Given the description of an element on the screen output the (x, y) to click on. 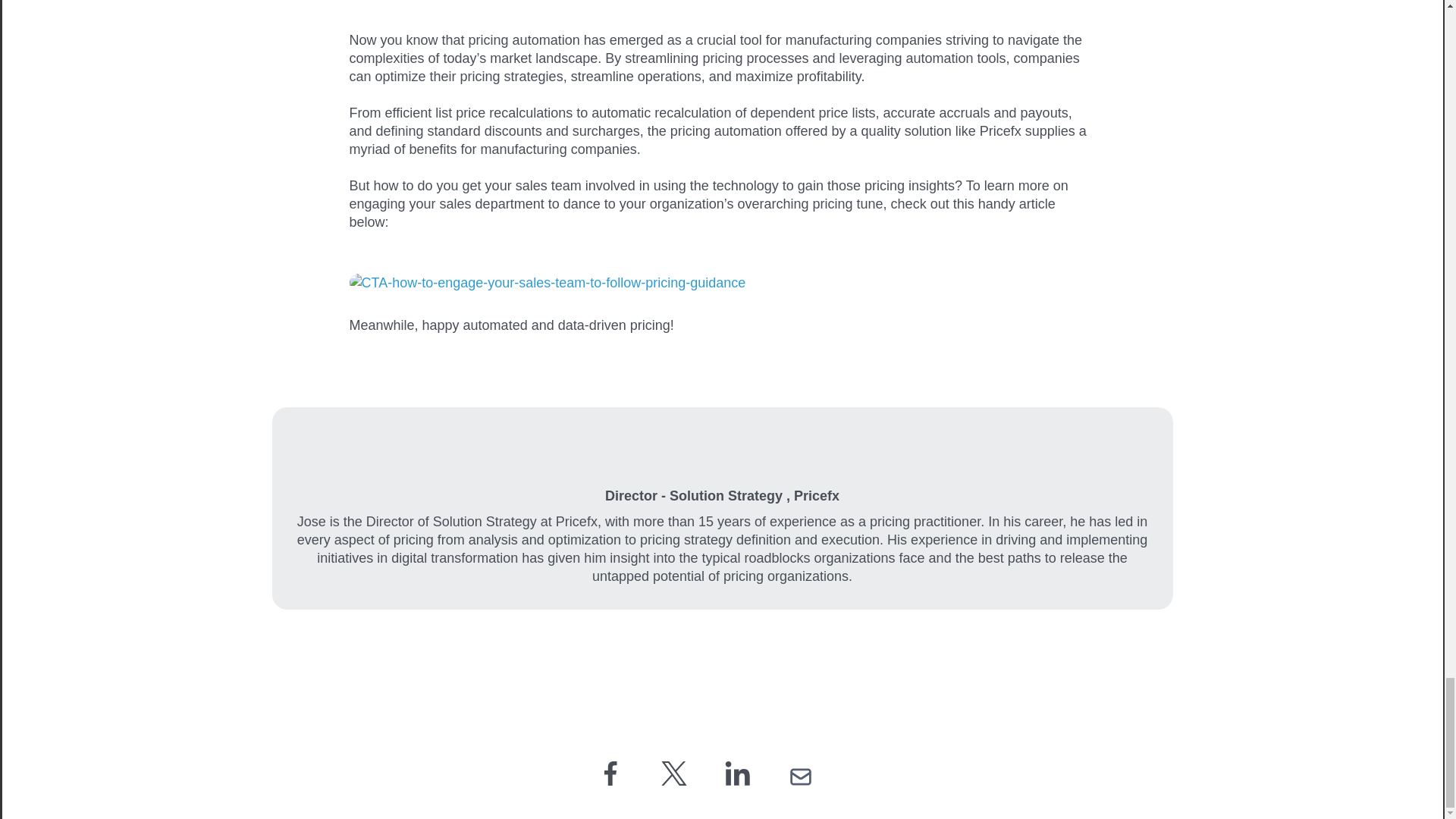
Share on email (799, 773)
Jose Paez (721, 445)
Share on linkedin (737, 773)
Jose Paez (721, 445)
Share on twitter (673, 773)
Share on facebook (609, 773)
